Given the description of an element on the screen output the (x, y) to click on. 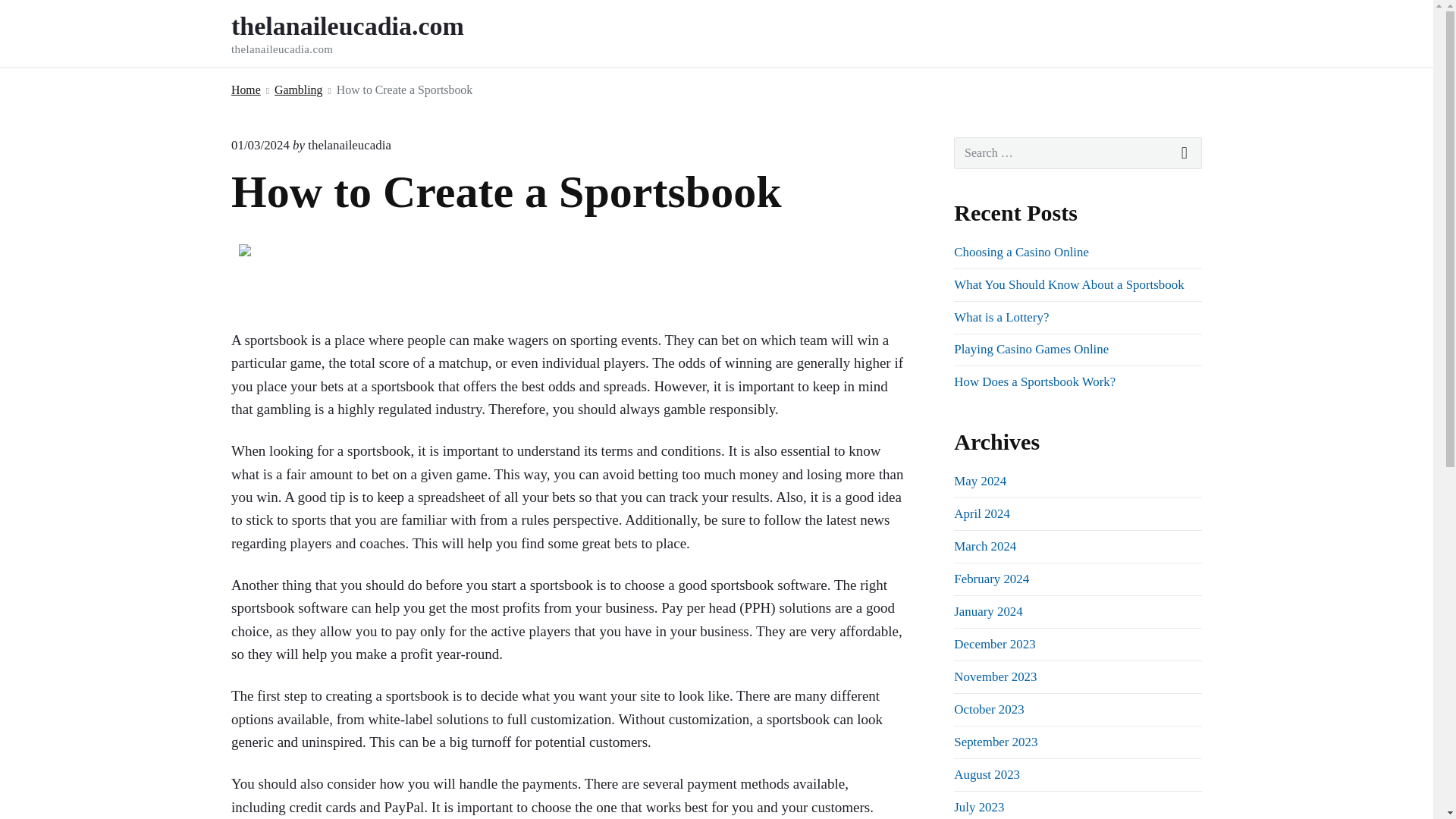
February 2024 (991, 578)
Search for: (1077, 152)
March 2024 (984, 545)
November 2023 (994, 676)
What You Should Know About a Sportsbook (1068, 284)
May 2024 (979, 481)
August 2023 (986, 774)
September 2023 (994, 741)
April 2024 (368, 33)
Gambling (981, 513)
SEARCH (298, 89)
Friday, March 1, 2024, 8:35 am (1184, 152)
Playing Casino Games Online (260, 145)
Home (1030, 349)
